Given the description of an element on the screen output the (x, y) to click on. 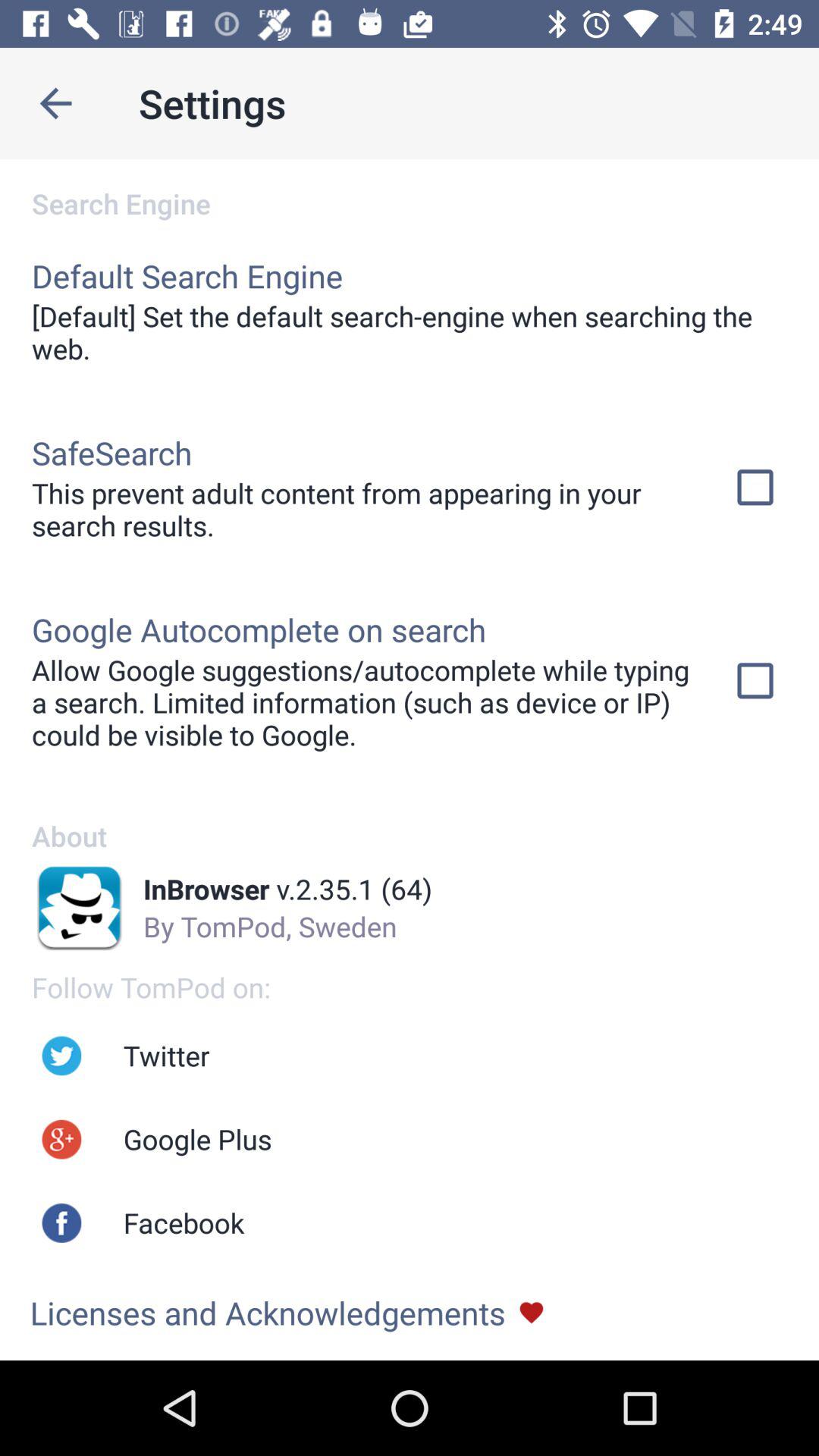
select google plus item (197, 1139)
